Given the description of an element on the screen output the (x, y) to click on. 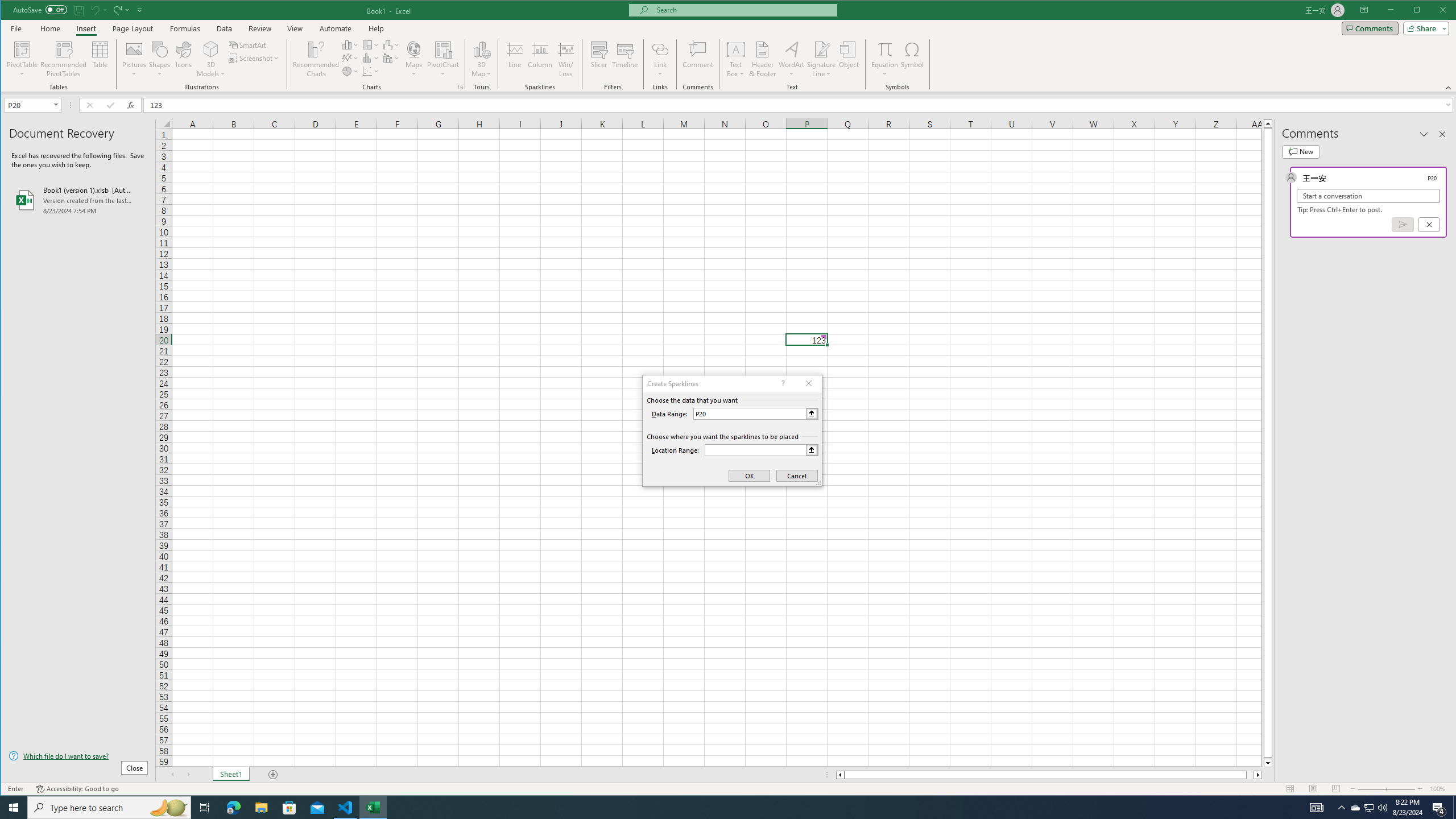
Win/Loss (565, 59)
